Given the description of an element on the screen output the (x, y) to click on. 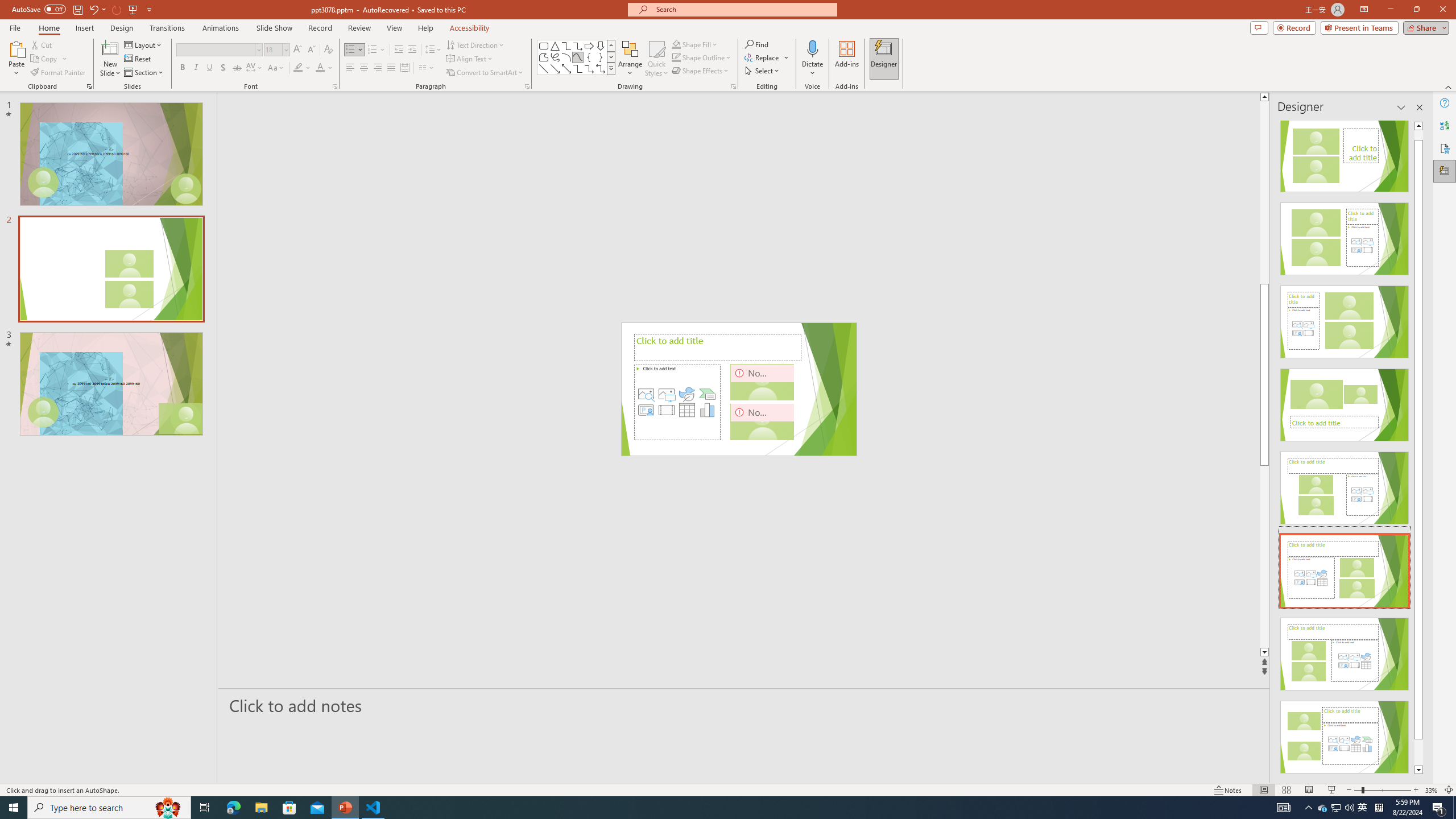
Connector: Elbow Double-Arrow (600, 68)
Line Arrow: Double (566, 68)
